Given the description of an element on the screen output the (x, y) to click on. 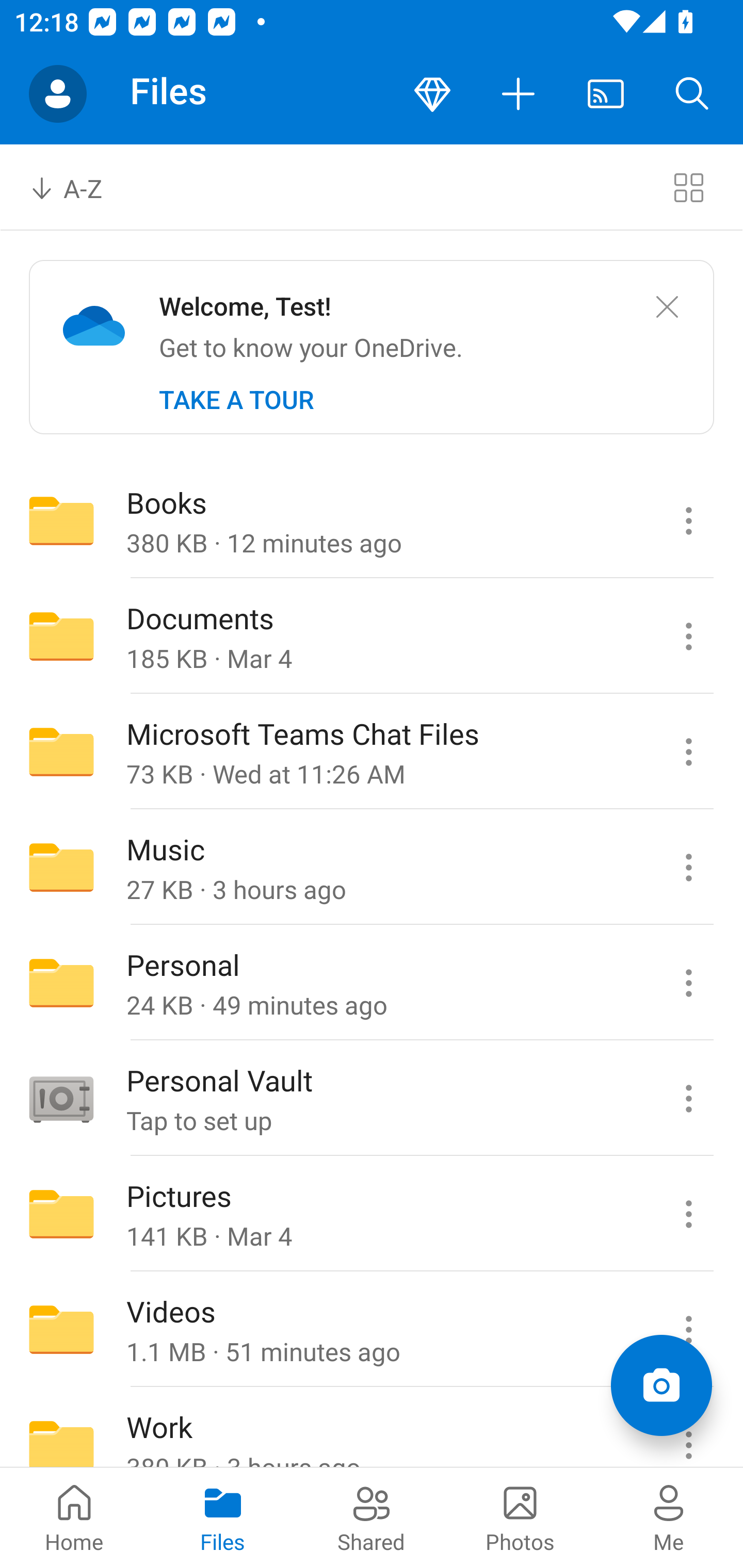
Account switcher (57, 93)
Cast. Disconnected (605, 93)
Premium button (432, 93)
More actions button (518, 93)
Search button (692, 93)
A-Z Sort by combo box, sort by name, A to Z (80, 187)
Switch to tiles view (688, 187)
Close (667, 307)
TAKE A TOUR (236, 399)
Books commands (688, 520)
Folder Documents 185 KB · Mar 4 Documents commands (371, 636)
Documents commands (688, 636)
Microsoft Teams Chat Files commands (688, 751)
Folder Music 27 KB · 3 hours ago Music commands (371, 867)
Music commands (688, 867)
Personal commands (688, 983)
Personal Vault commands (688, 1099)
Folder Pictures 141 KB · Mar 4 Pictures commands (371, 1214)
Pictures commands (688, 1214)
Videos commands (688, 1329)
Add items Scan (660, 1385)
Folder Work 380 KB · 3 hours ago Work commands (371, 1427)
Work commands (688, 1427)
Home pivot Home (74, 1517)
Shared pivot Shared (371, 1517)
Photos pivot Photos (519, 1517)
Me pivot Me (668, 1517)
